Given the description of an element on the screen output the (x, y) to click on. 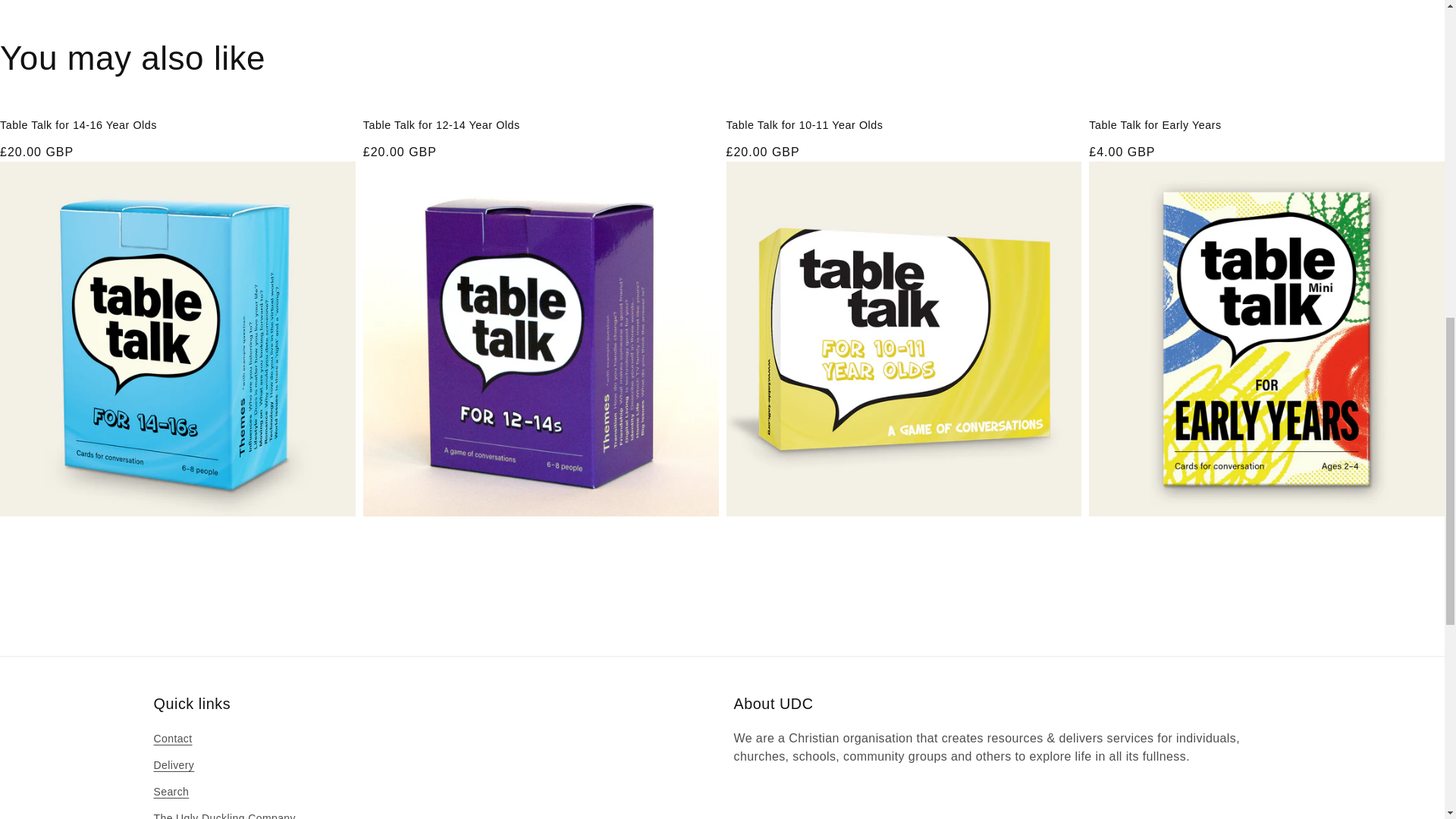
Table Talk for 12-14 Year Olds (540, 124)
Table Talk for 10-11 Year Olds (903, 124)
Search (170, 791)
Table Talk for 14-16 Year Olds (177, 124)
Contact (172, 740)
Delivery (172, 765)
